Given the description of an element on the screen output the (x, y) to click on. 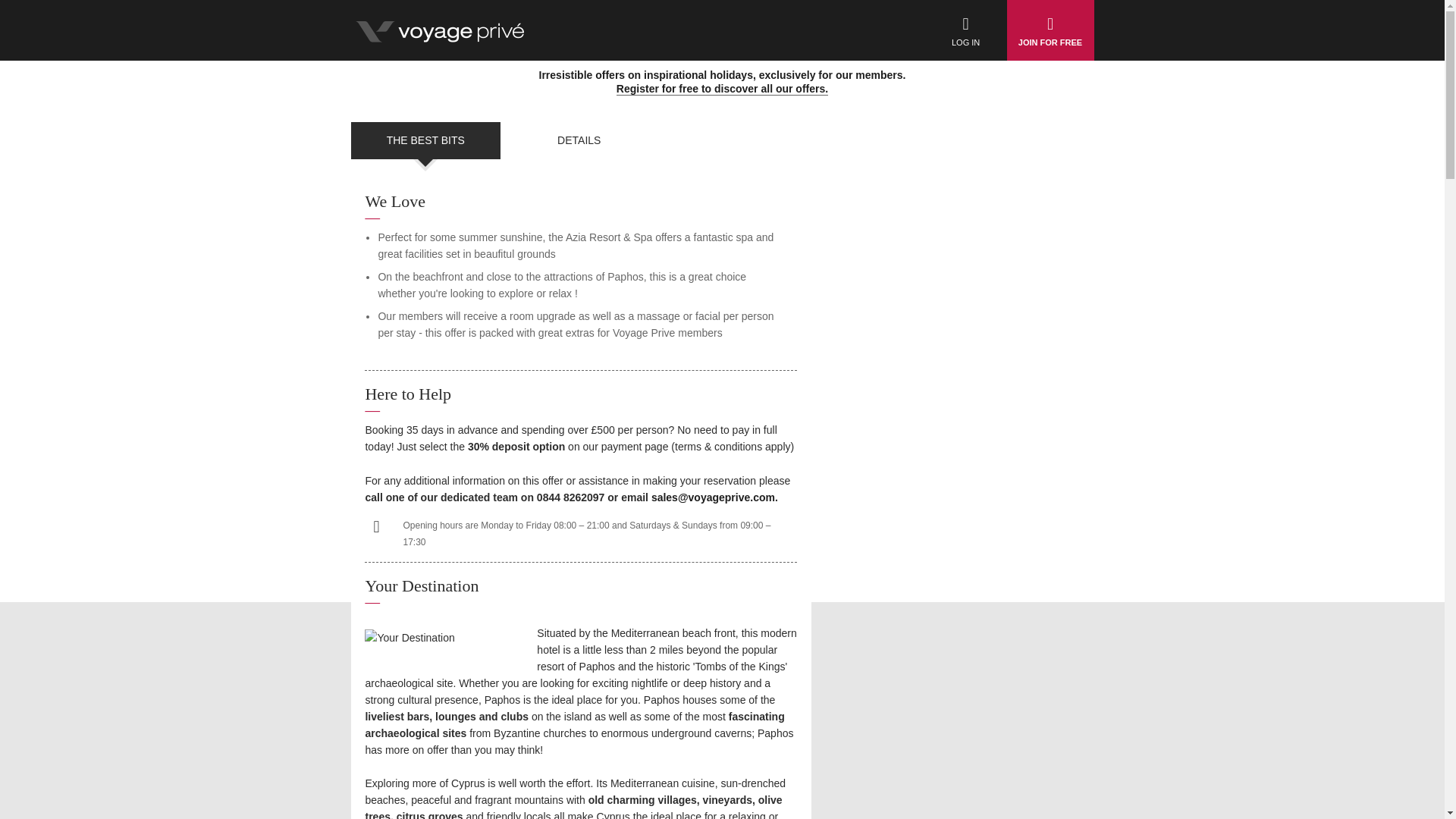
LOG IN (966, 30)
THE BEST BITS (425, 140)
Register for free to discover all our offers. (721, 88)
DETAILS (578, 140)
